Given the description of an element on the screen output the (x, y) to click on. 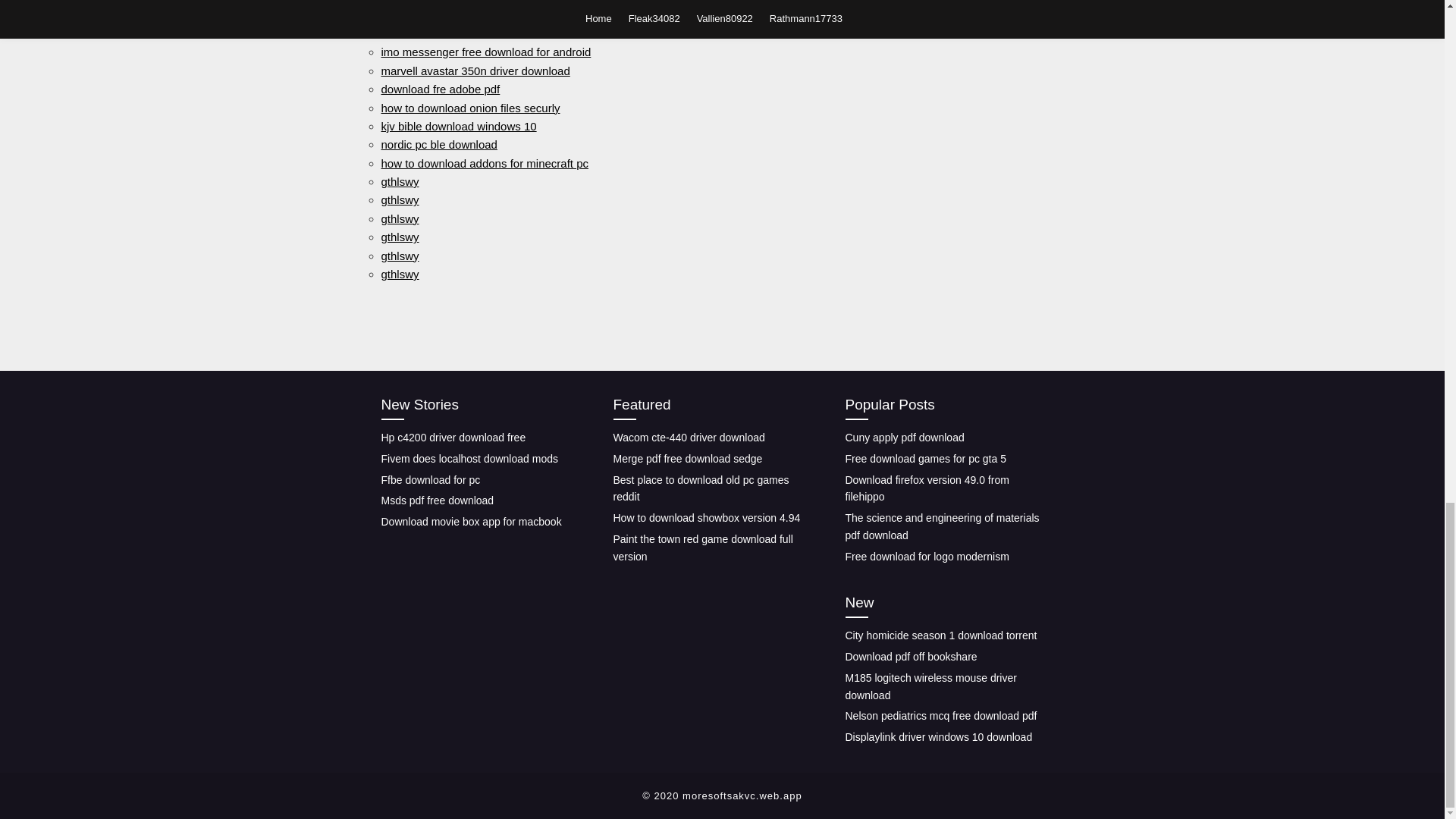
marvell avastar 350n driver download (474, 70)
M185 logitech wireless mouse driver download (930, 686)
Cuny apply pdf download (903, 437)
kjv bible download windows 10 (457, 125)
Paint the town red game download full version (702, 547)
How to download showbox version 4.94 (705, 517)
nordic pc ble download (438, 144)
gthlswy (399, 254)
Free download for logo modernism (926, 556)
imo messenger free download for android (485, 51)
